Given the description of an element on the screen output the (x, y) to click on. 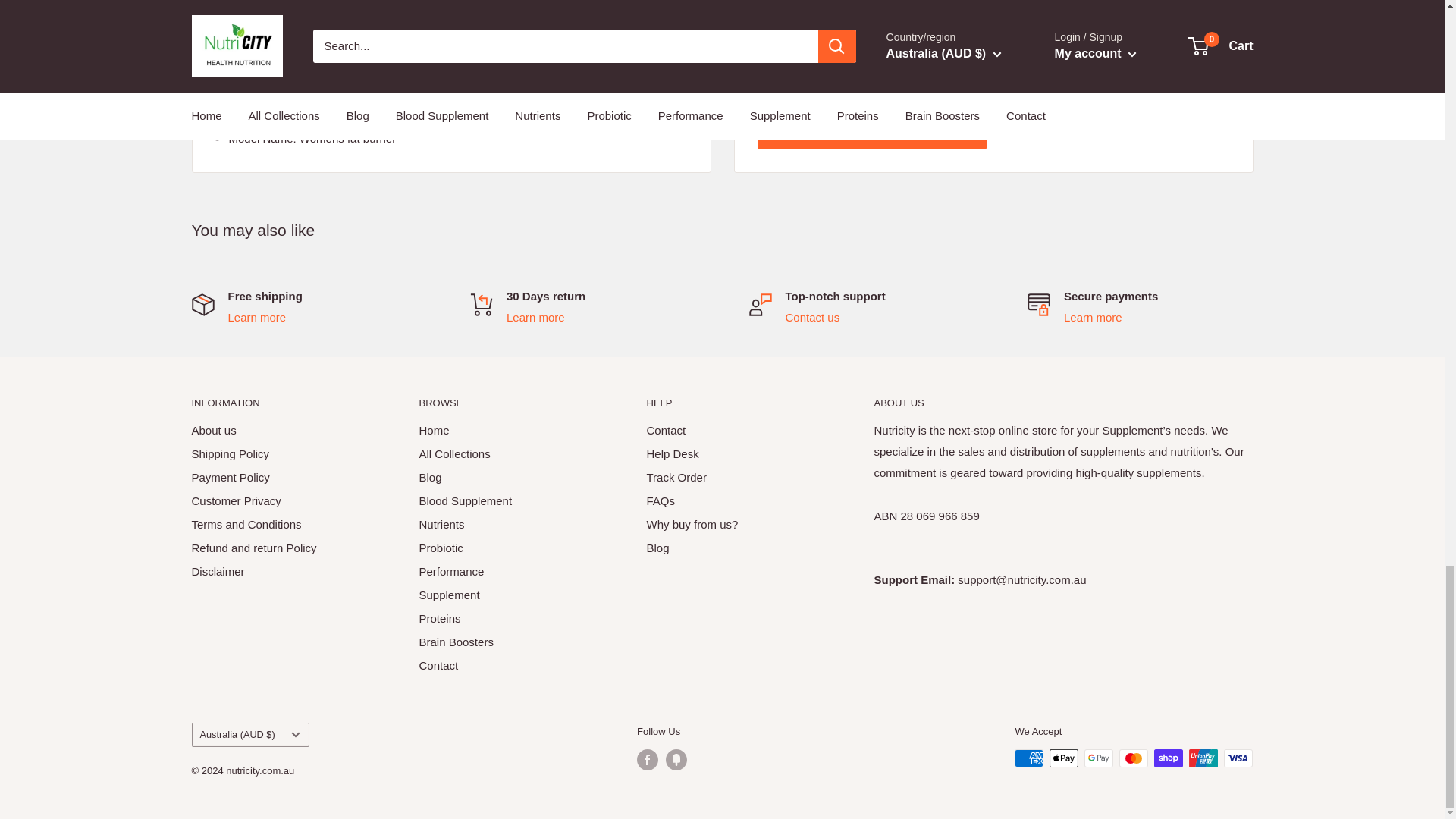
Shipping Policy (256, 317)
Contact (813, 317)
Refund Policy (535, 317)
Payment (1093, 317)
